Given the description of an element on the screen output the (x, y) to click on. 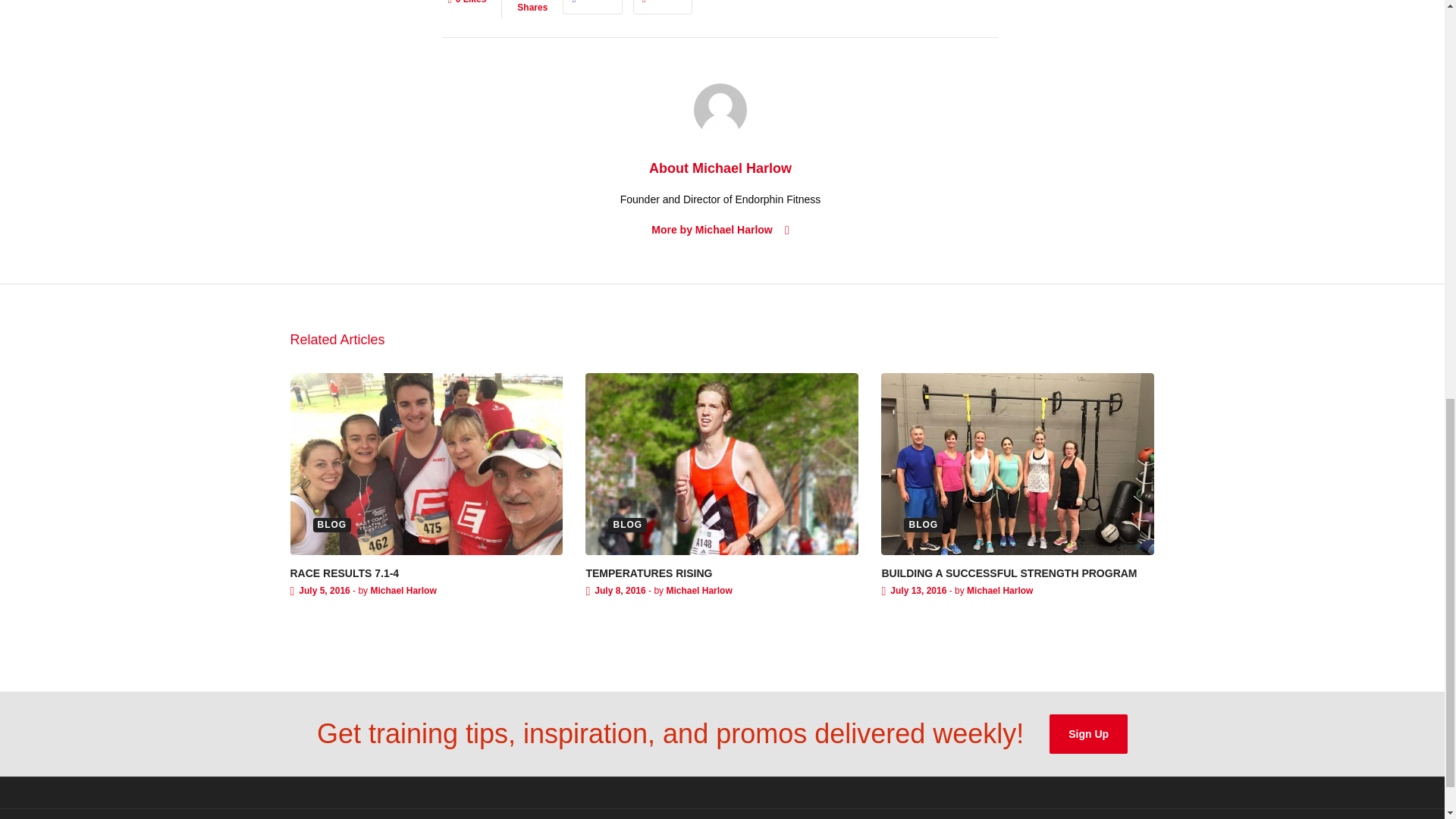
More by Michael Harlow (719, 230)
0 Likes (466, 9)
